Given the description of an element on the screen output the (x, y) to click on. 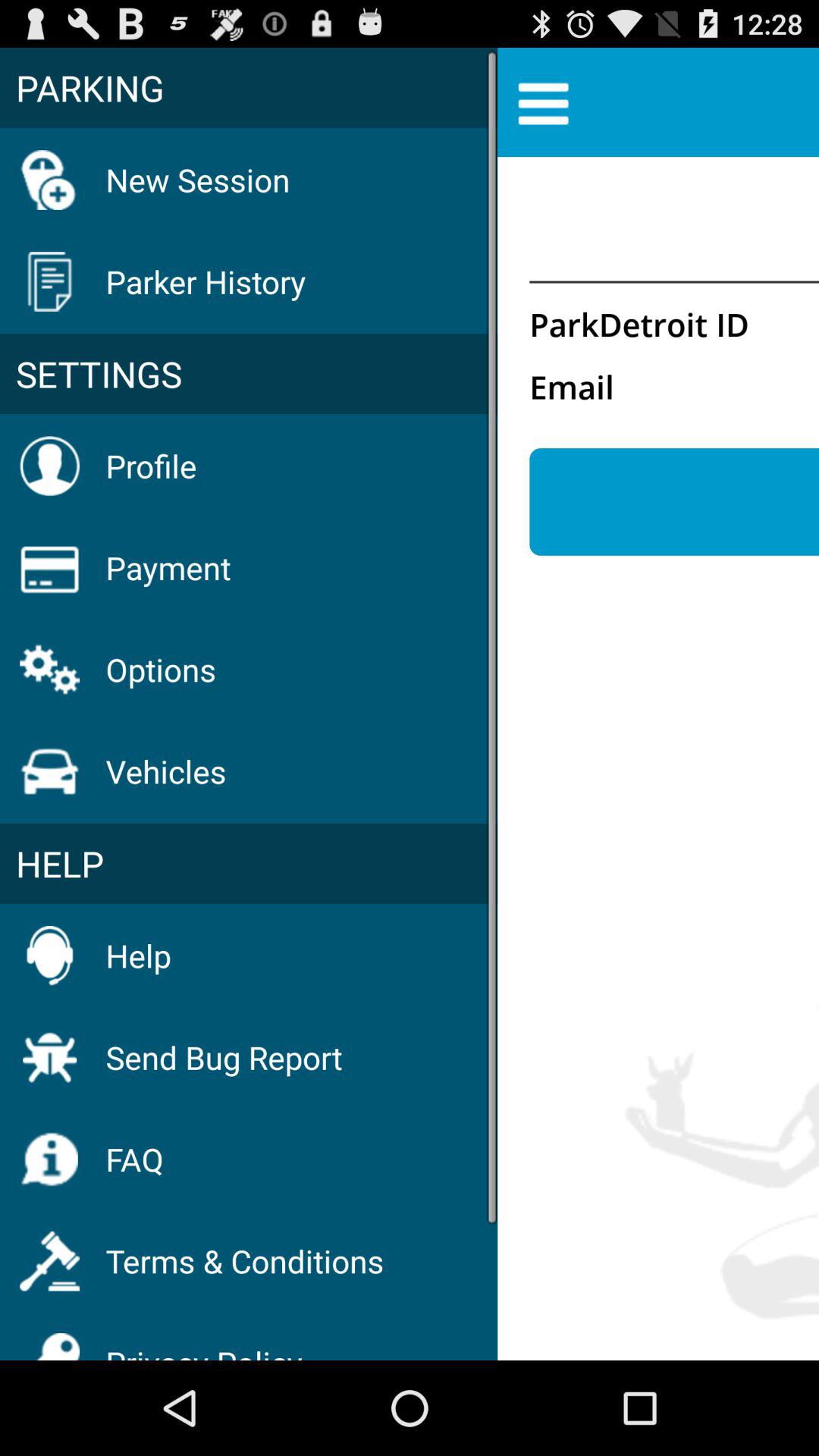
select new session item (197, 179)
